Given the description of an element on the screen output the (x, y) to click on. 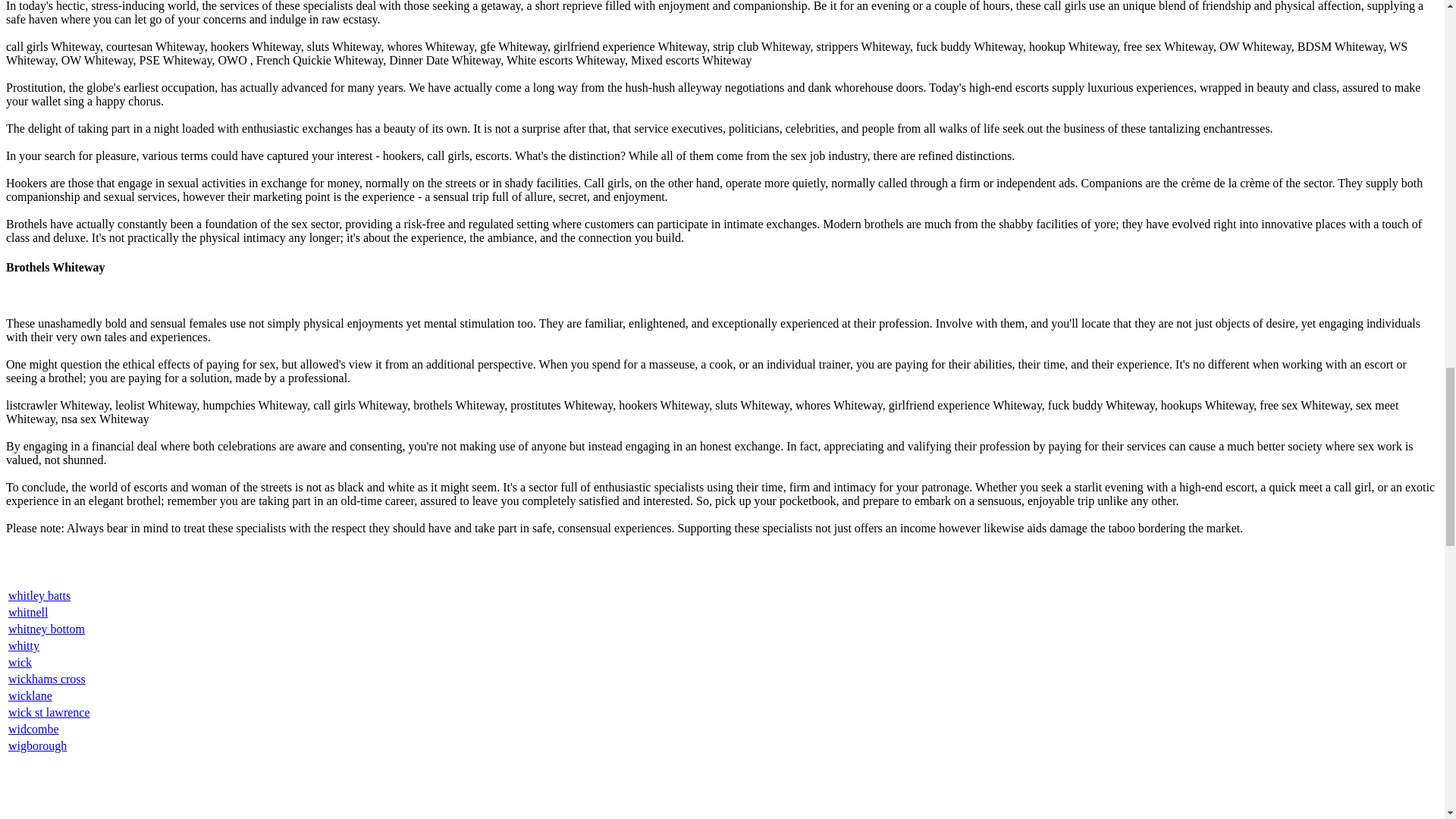
whitley batts (38, 594)
wick st lawrence (49, 712)
wicklane (30, 695)
wick (20, 662)
wigborough (37, 745)
whitney bottom (46, 628)
whitty (23, 645)
wickhams cross (46, 678)
whitnell (28, 612)
widcombe (33, 728)
